Given the description of an element on the screen output the (x, y) to click on. 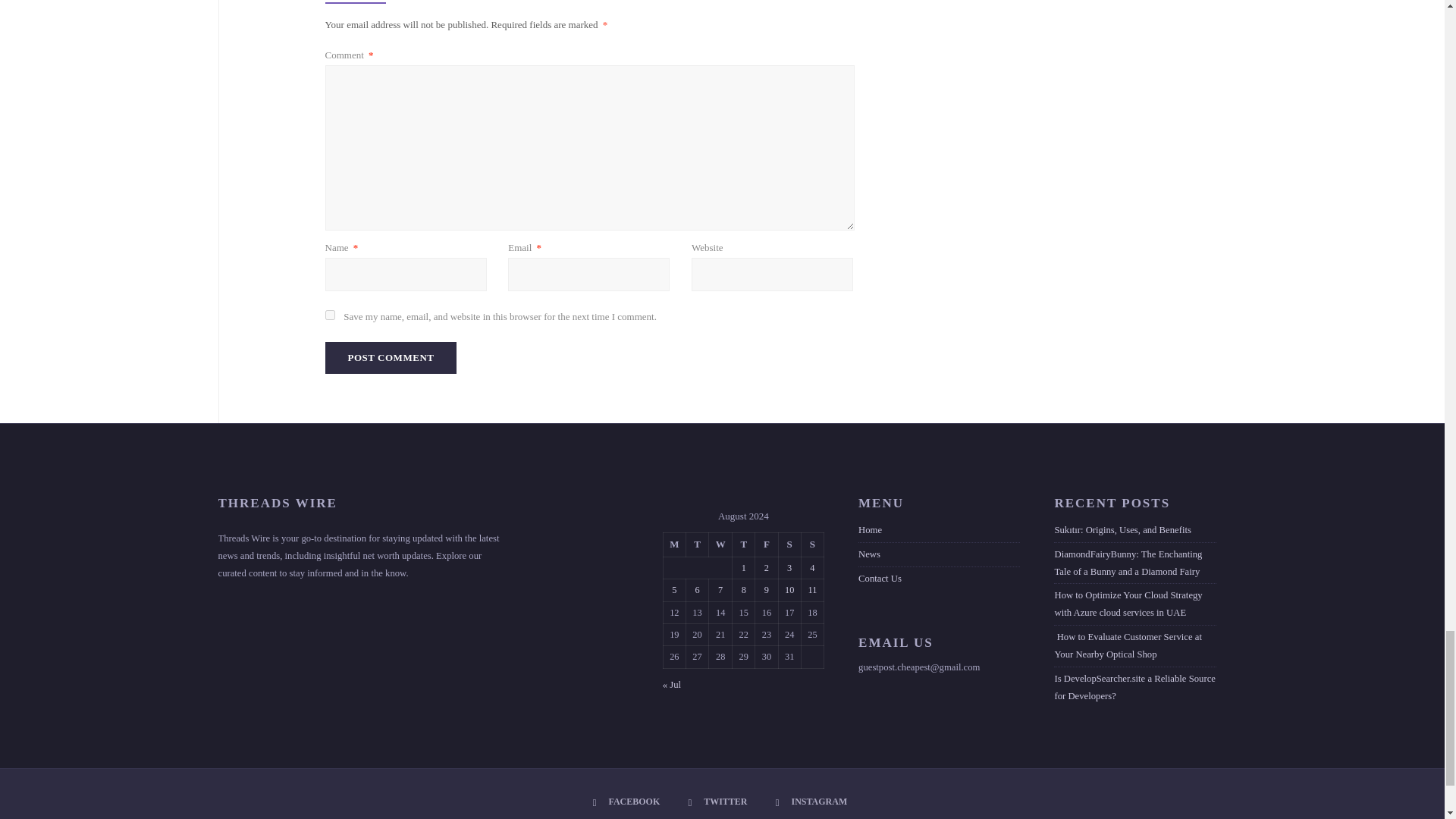
yes (329, 315)
Post Comment (390, 357)
Post Comment (390, 357)
